Given the description of an element on the screen output the (x, y) to click on. 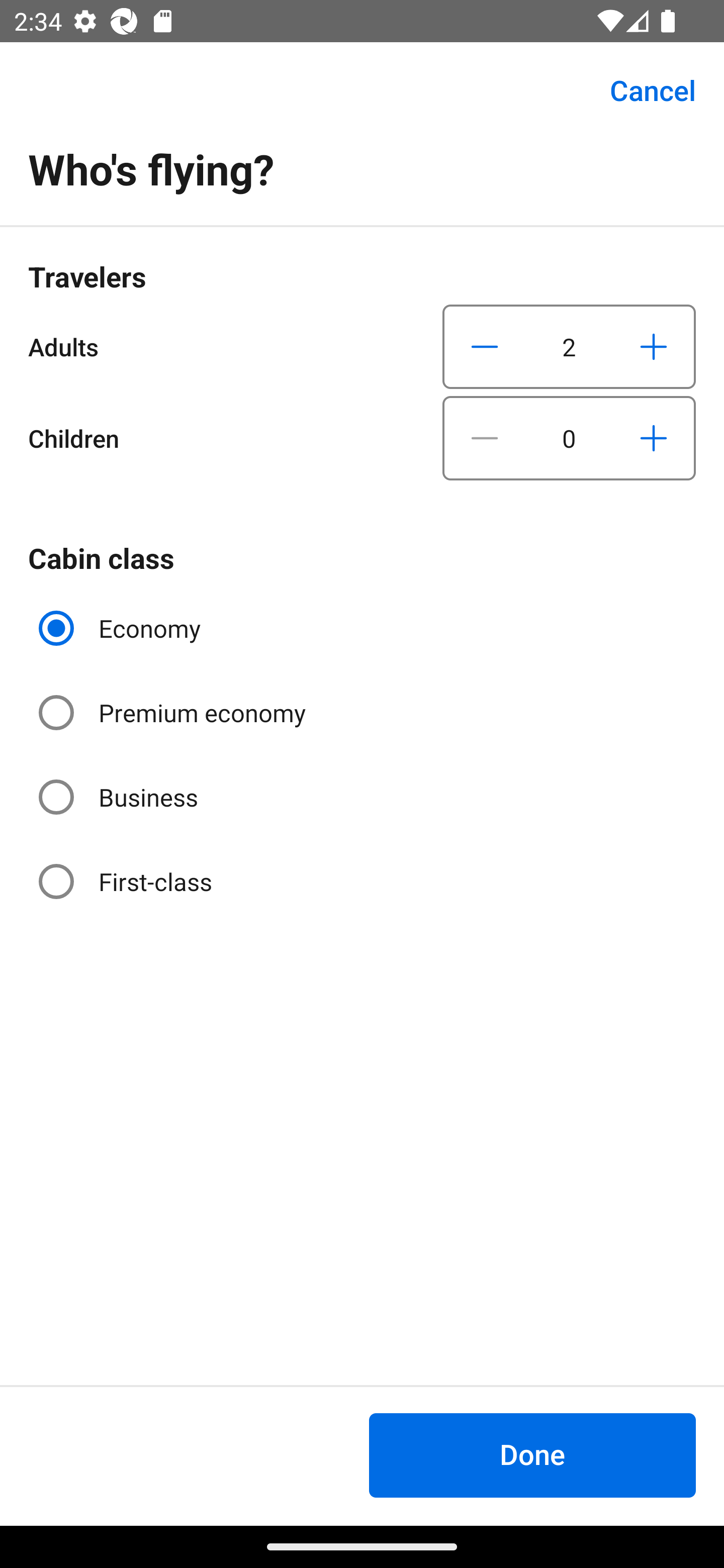
Cancel (641, 90)
Decrease (484, 346)
Increase (653, 346)
Decrease (484, 437)
Increase (653, 437)
Economy (121, 628)
Premium economy (174, 712)
Business (120, 796)
First-class (126, 880)
Done (532, 1454)
